Given the description of an element on the screen output the (x, y) to click on. 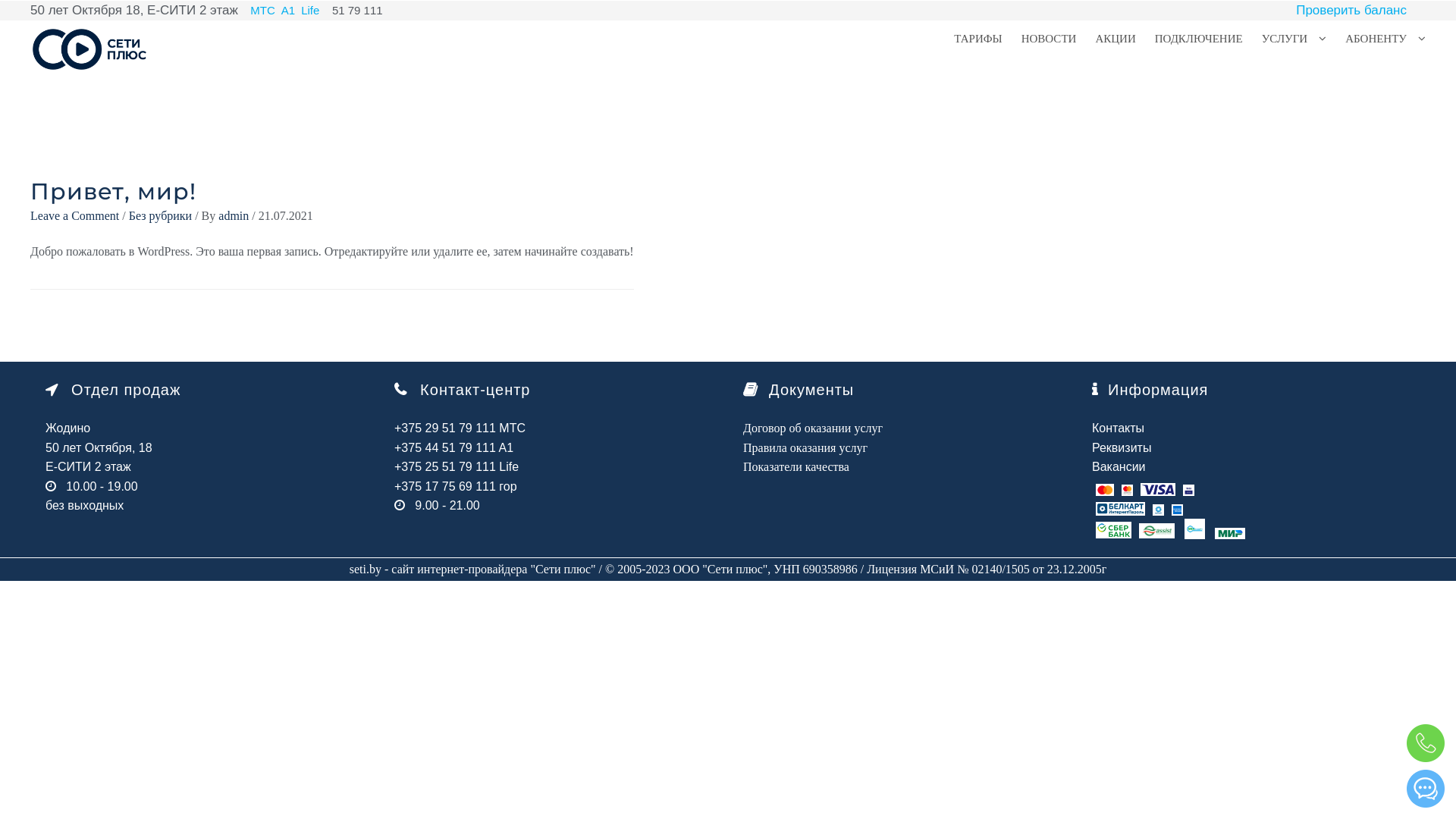
Leave a Comment Element type: text (74, 215)
+375 44 51 79 111 A1 Element type: text (453, 447)
+375 29 51 79 111 MTC Element type: text (459, 427)
admin Element type: text (234, 215)
+375 25 51 79 111 Life Element type: text (456, 466)
